Given the description of an element on the screen output the (x, y) to click on. 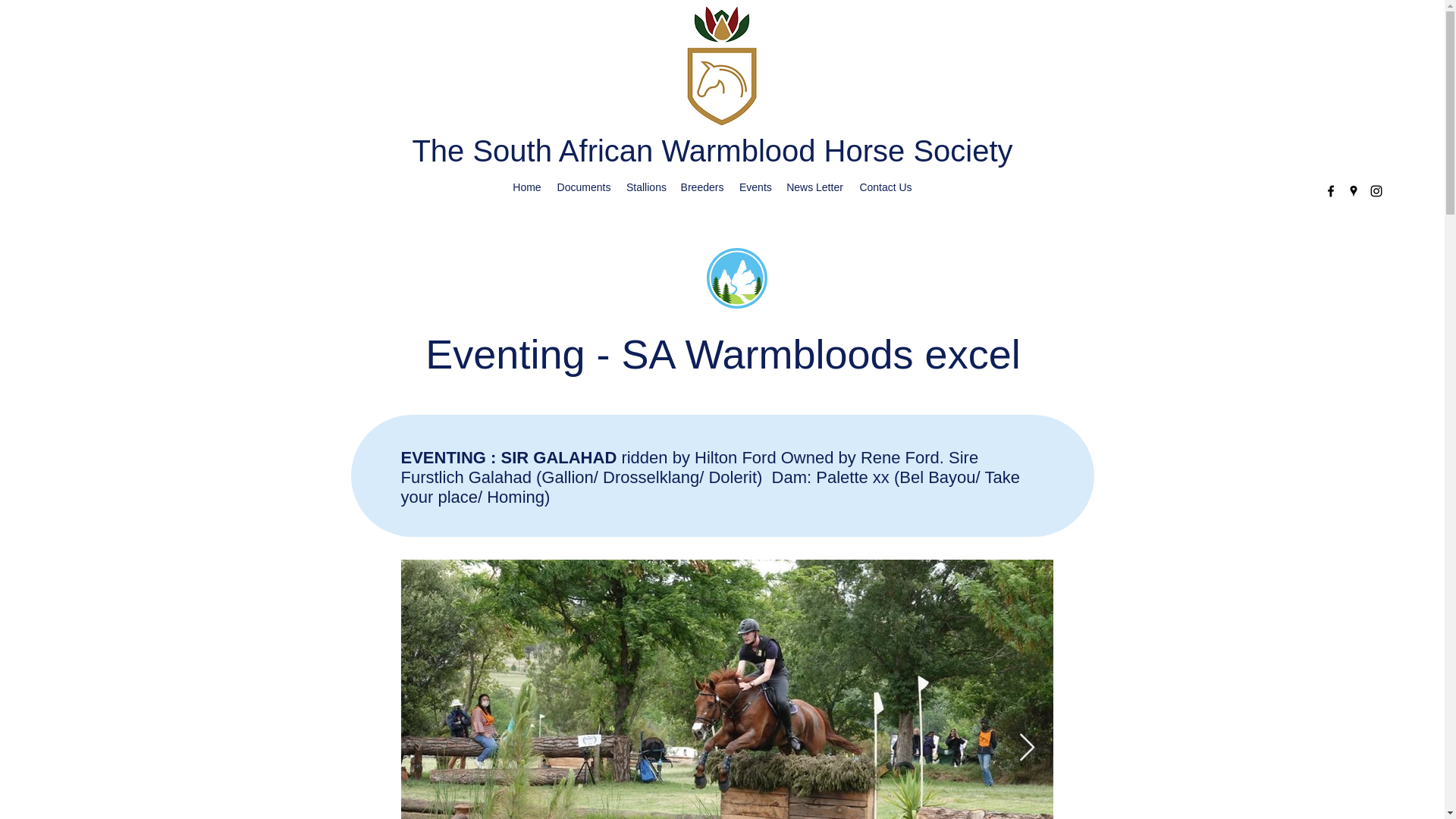
News Letter (814, 187)
Contact Us (885, 187)
Breeders (702, 187)
Events (754, 187)
Documents (583, 187)
Home (526, 187)
The South African Warmblood Horse Society (711, 150)
Stallions (645, 187)
